Given the description of an element on the screen output the (x, y) to click on. 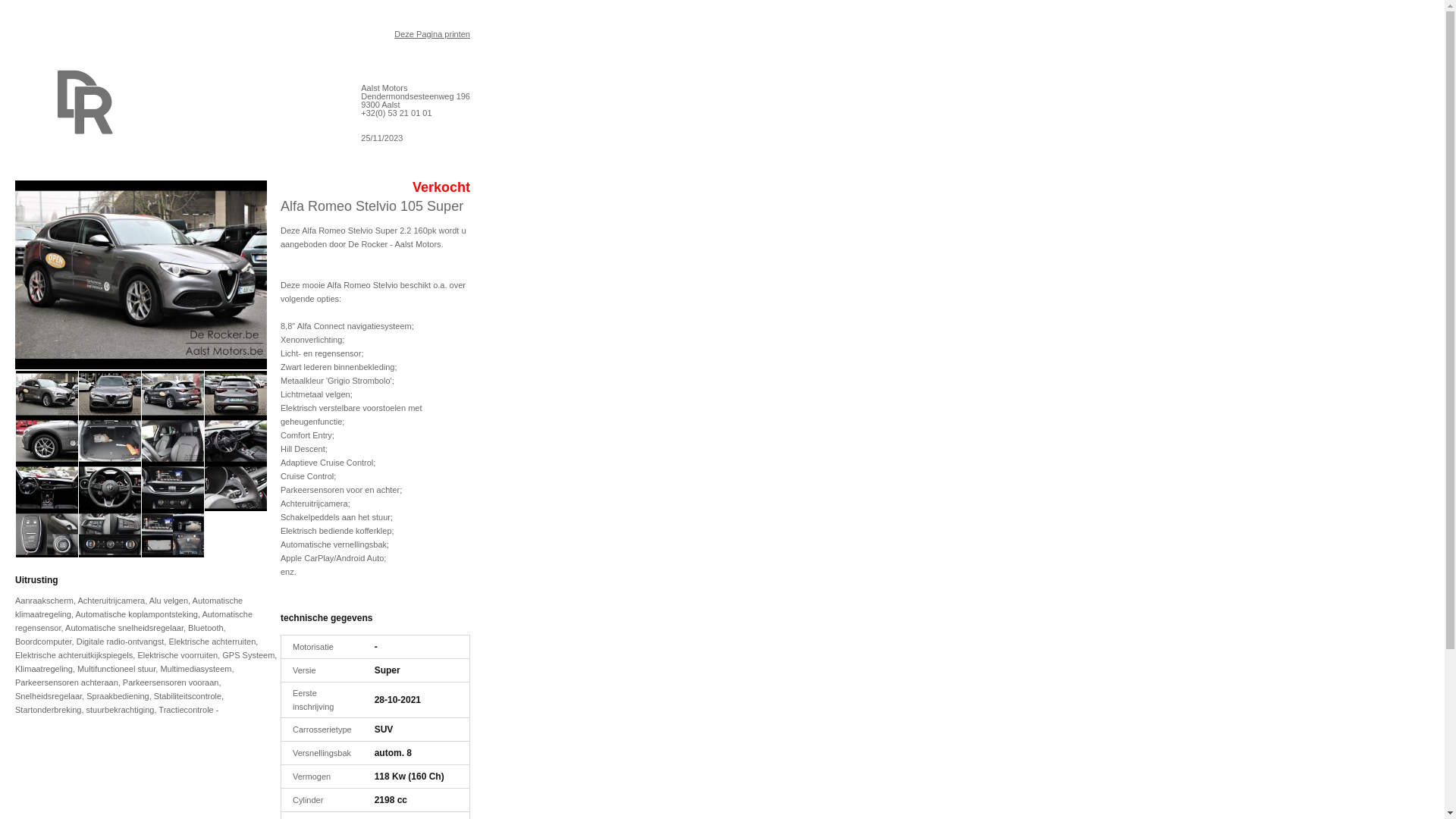
Deze Pagina printen Element type: text (432, 33)
Alfa Romeo Stelvio SUV Super Element type: hover (140, 365)
